Given the description of an element on the screen output the (x, y) to click on. 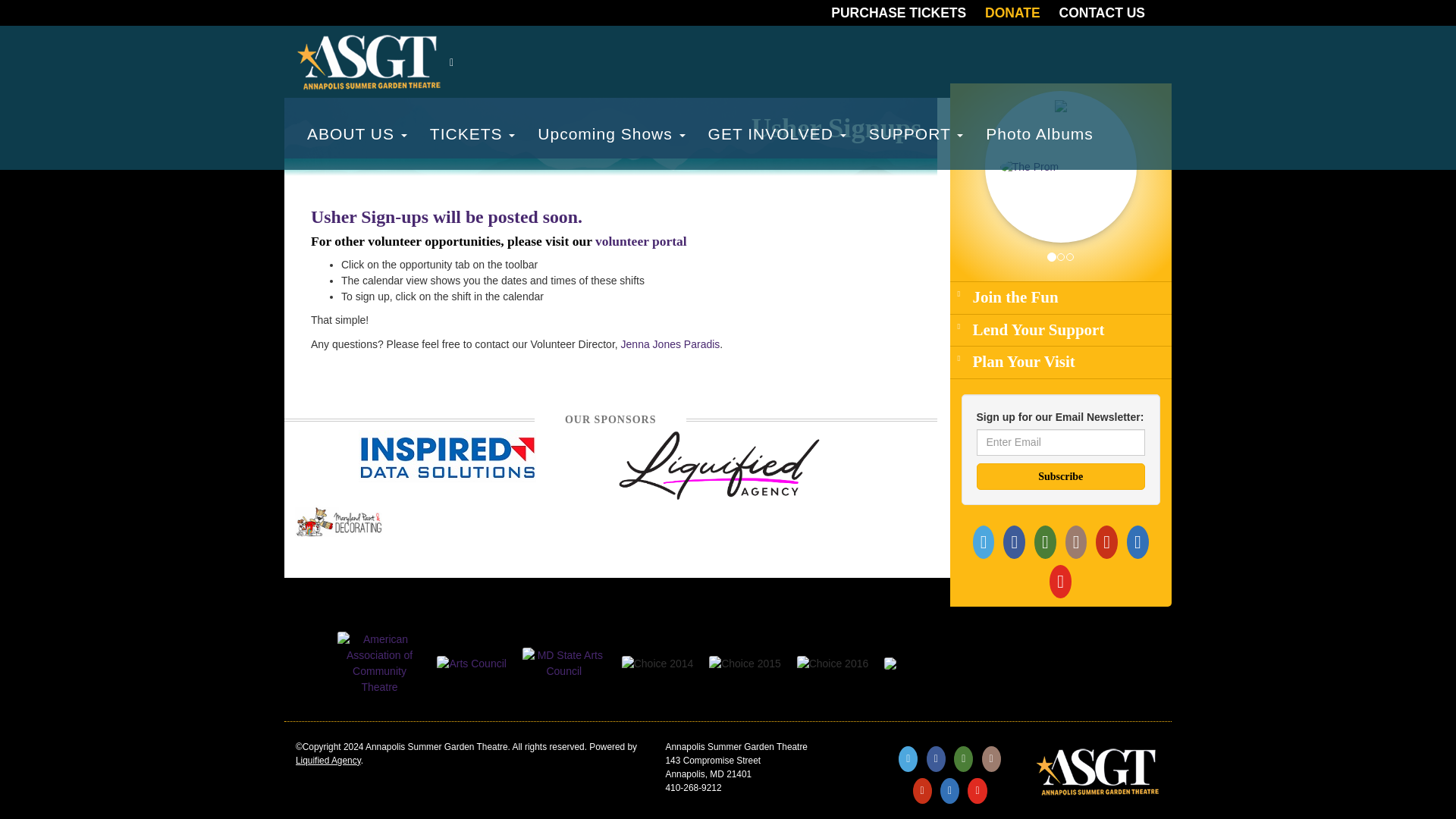
TICKETS (473, 133)
ABOUT US (357, 133)
TICKETS (473, 133)
Upcoming Shows (610, 133)
PURCHASE TICKETS (906, 12)
GET INVOLVED (777, 133)
Upcoming Shows (610, 133)
ABOUT US (357, 133)
CONTACT US (1109, 12)
Jenna Jones Paradis (670, 344)
